Given the description of an element on the screen output the (x, y) to click on. 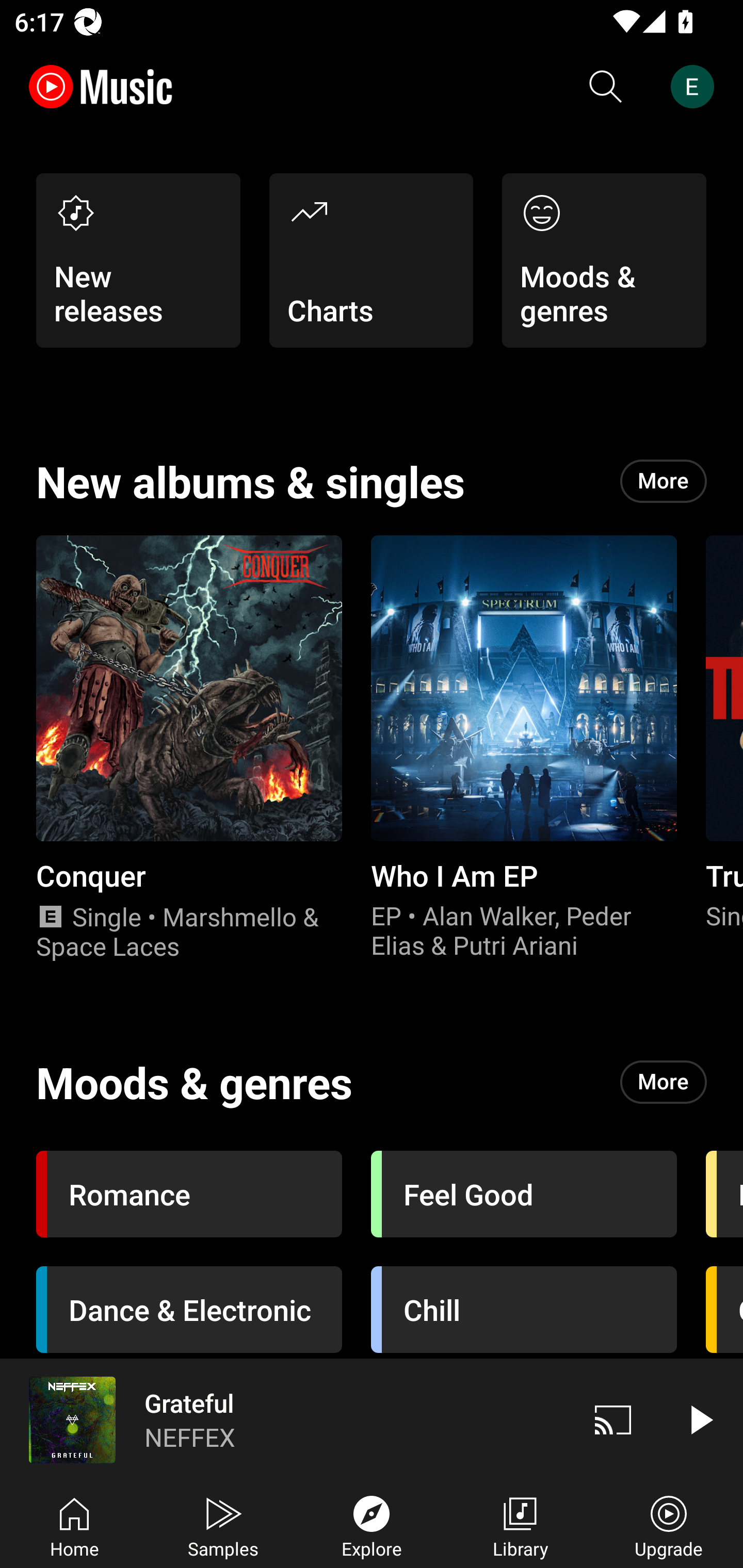
Search (605, 86)
Account (696, 86)
Cast. Disconnected (612, 1419)
Play video (699, 1419)
Home (74, 1524)
Samples (222, 1524)
Library (519, 1524)
Upgrade (668, 1524)
